Given the description of an element on the screen output the (x, y) to click on. 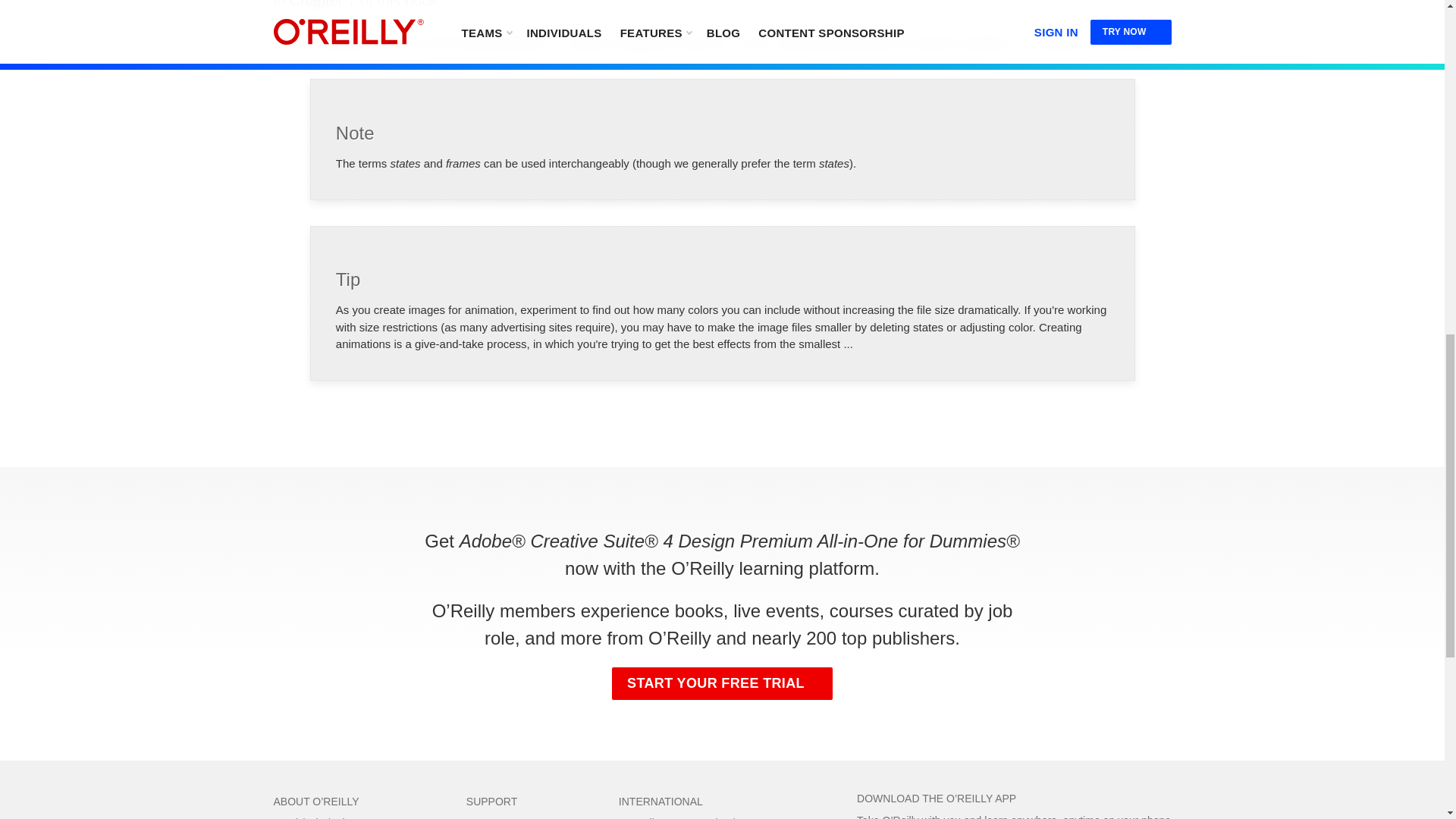
SUPPORT (490, 801)
Chapter 7 (322, 4)
START YOUR FREE TRIAL (721, 684)
Contact us (490, 817)
